Given the description of an element on the screen output the (x, y) to click on. 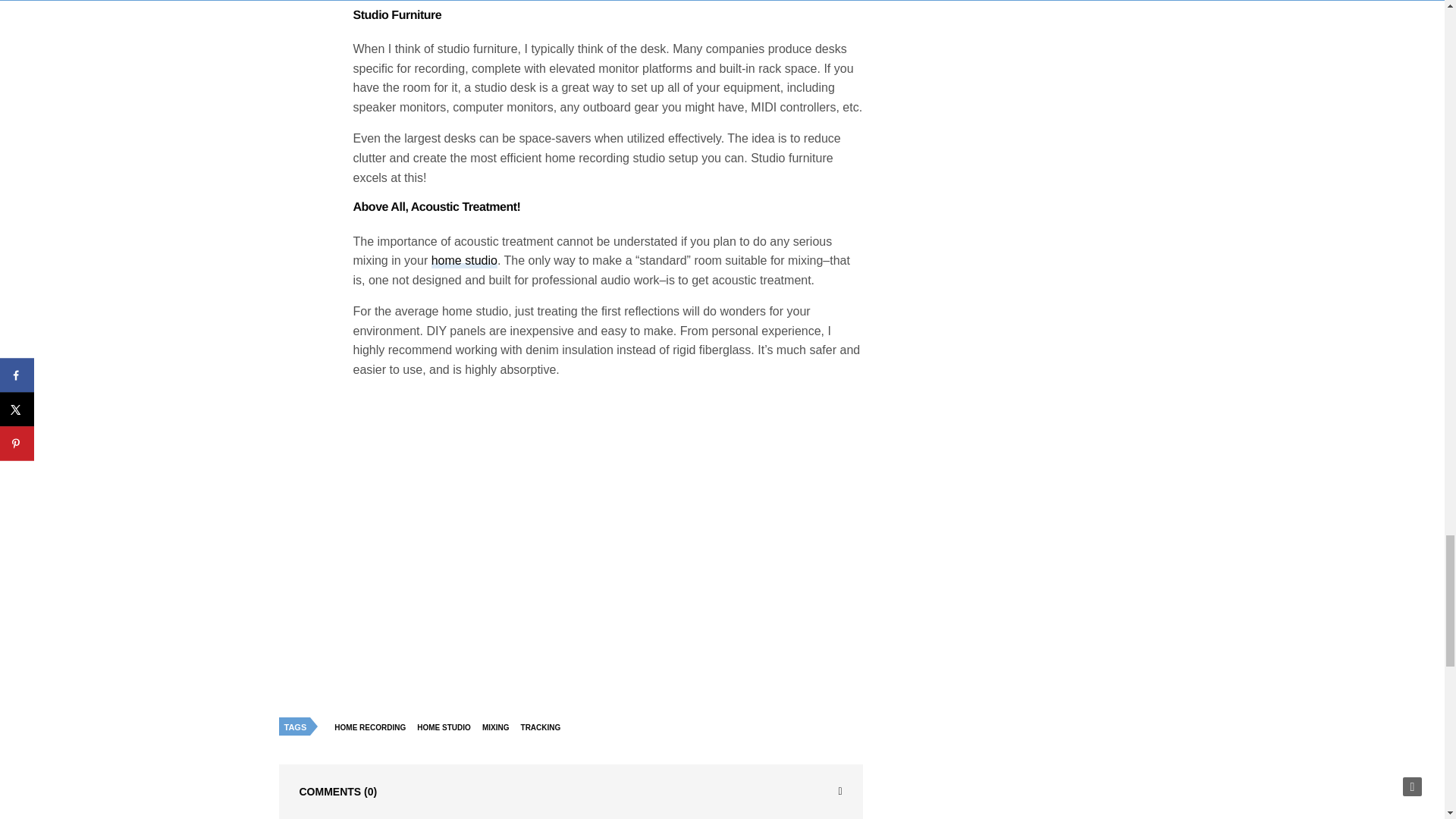
TRACKING (544, 727)
HOME RECORDING (373, 727)
MIXING (499, 727)
home studio (463, 260)
HOME STUDIO (447, 727)
